Given the description of an element on the screen output the (x, y) to click on. 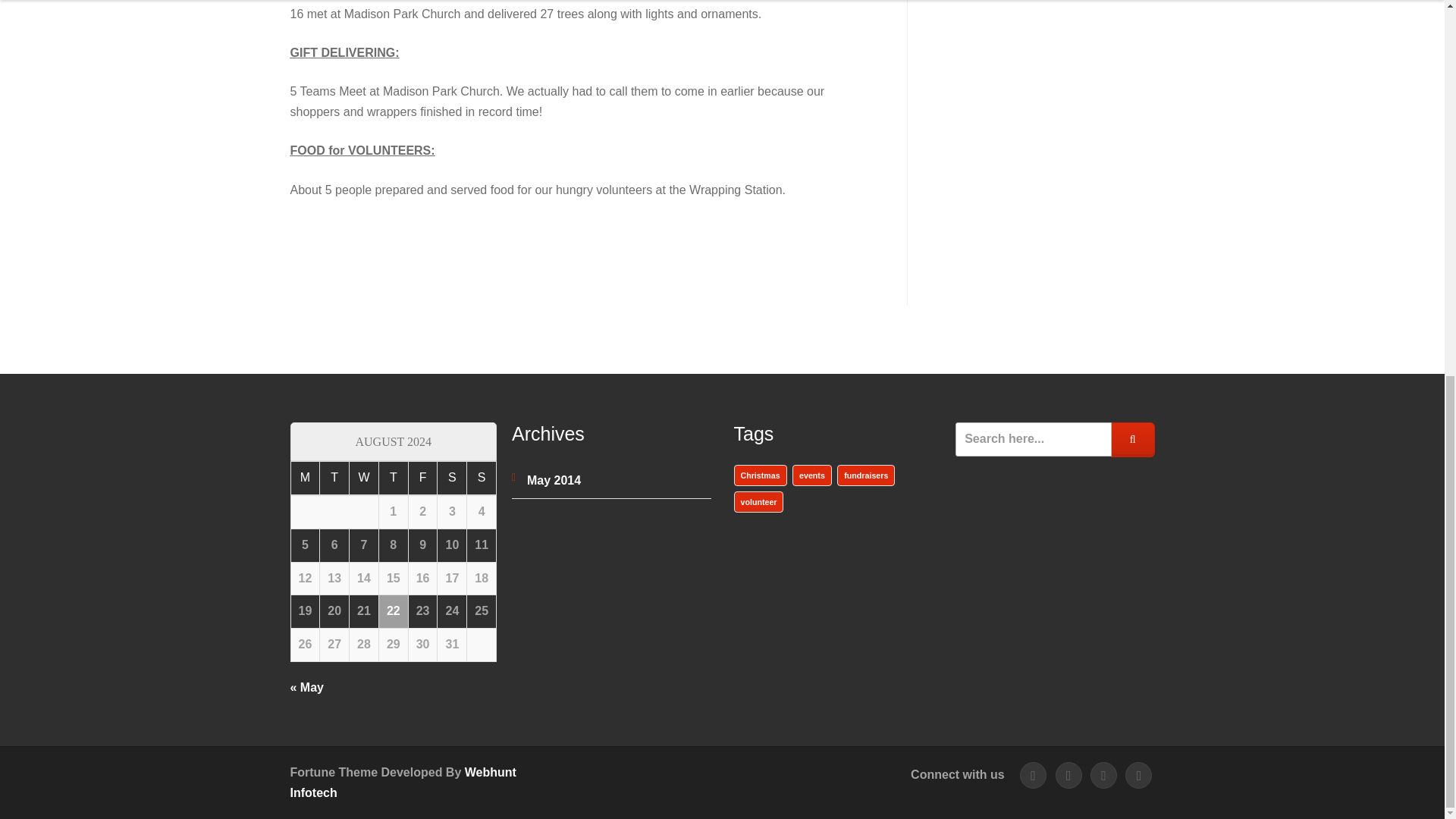
fundraisers (866, 475)
Christmas (760, 475)
events (811, 475)
volunteer (758, 501)
May 2014 (553, 480)
